Given the description of an element on the screen output the (x, y) to click on. 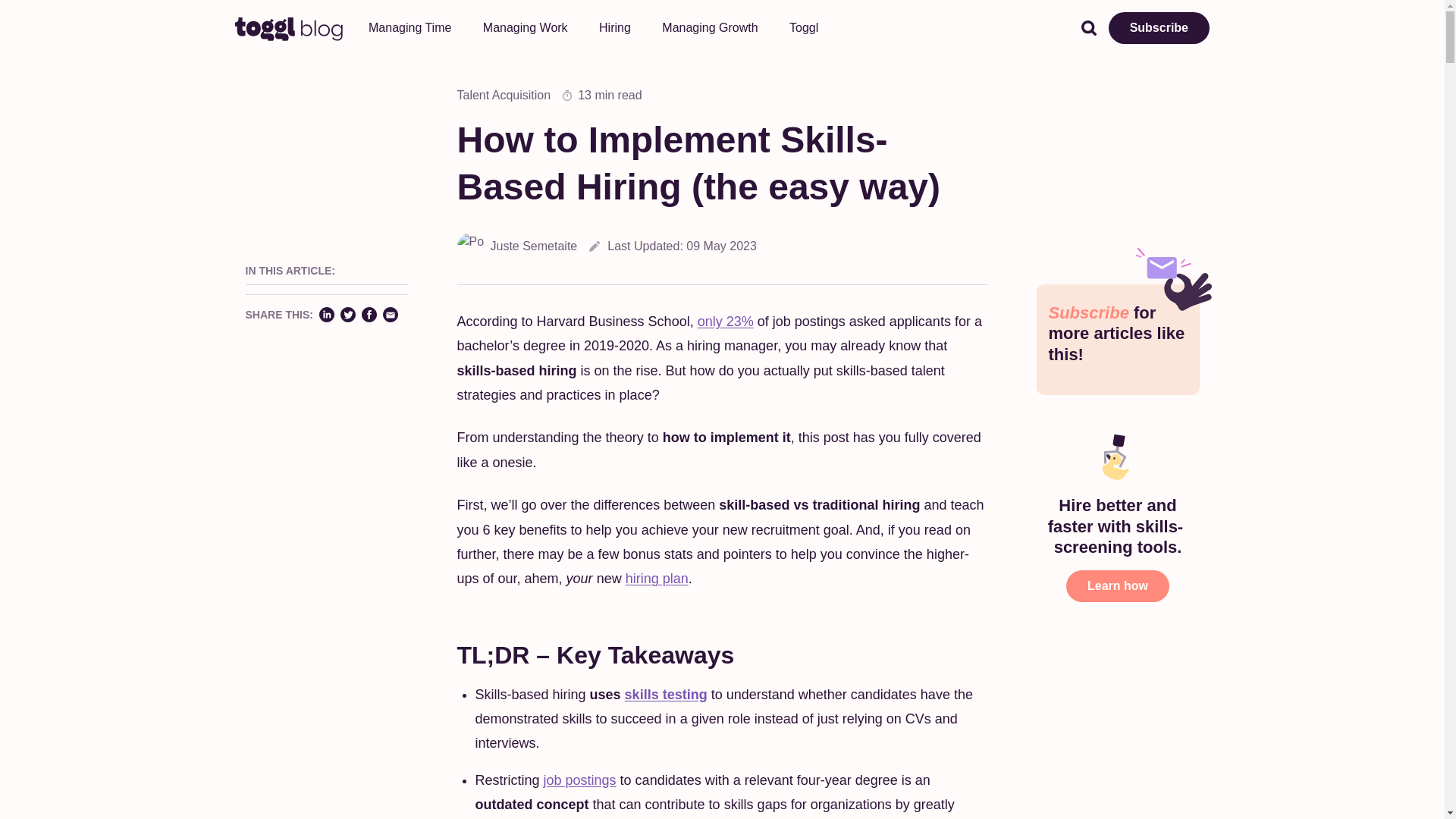
Juste Semetaite (516, 246)
Managing Growth (709, 27)
Toggl Blog (288, 27)
Managing Work (525, 27)
hiring plan (657, 578)
Managing Time (409, 27)
Talent Acquisition (503, 95)
Hiring (614, 27)
Talent Acquisition (503, 95)
Subscribe (1158, 28)
